Given the description of an element on the screen output the (x, y) to click on. 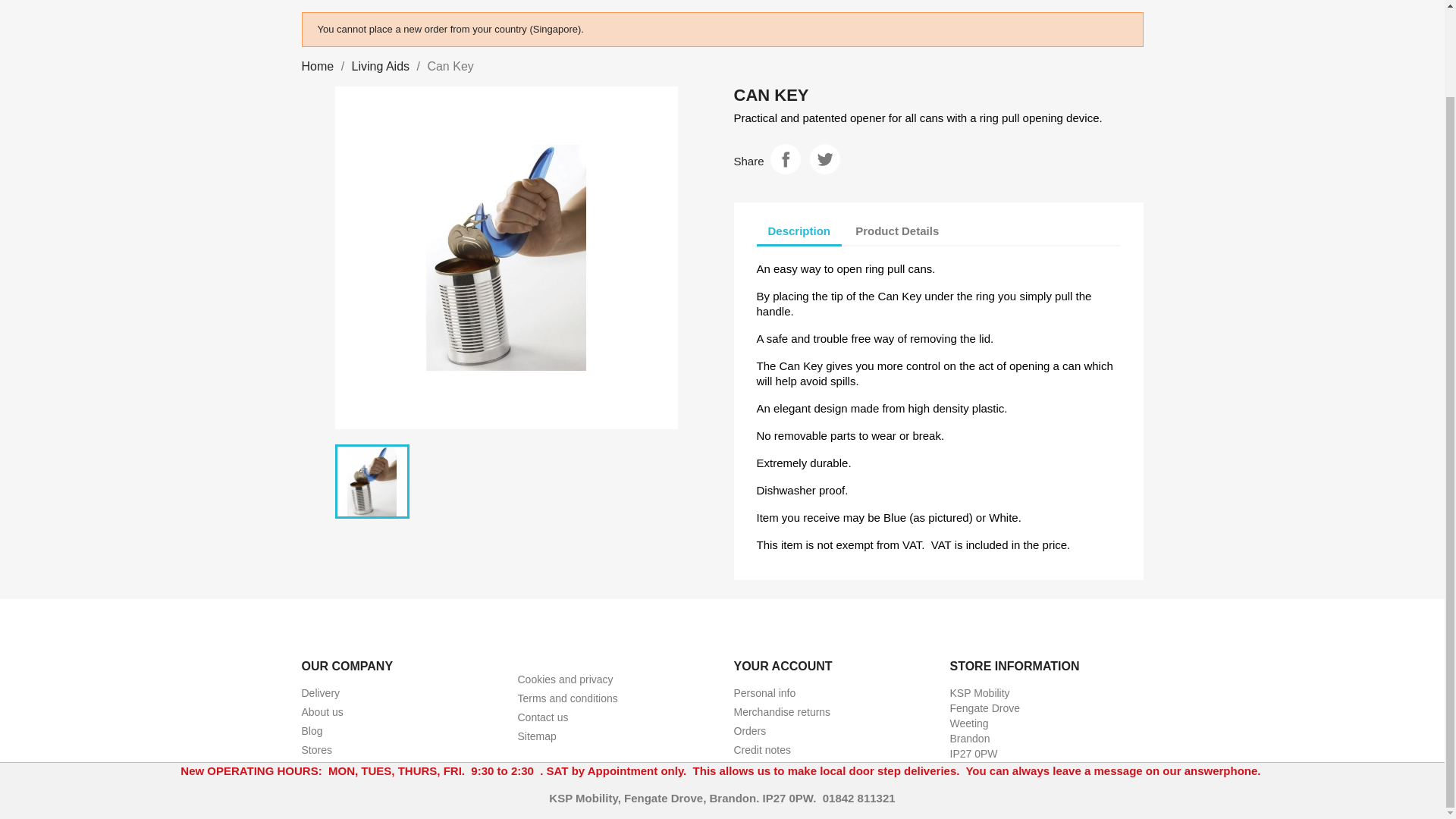
Merchandise returns (782, 711)
Orders (750, 730)
About us (322, 711)
Blog (312, 730)
Use our form to contact us (541, 717)
YOUR ACCOUNT (782, 666)
Orders (750, 730)
Product Details (897, 230)
Home (317, 65)
Tweet (824, 159)
Personal info (764, 693)
Contact us (541, 717)
Tweet (824, 159)
Addresses (758, 768)
Lost ? Find what your are looking for (536, 736)
